Given the description of an element on the screen output the (x, y) to click on. 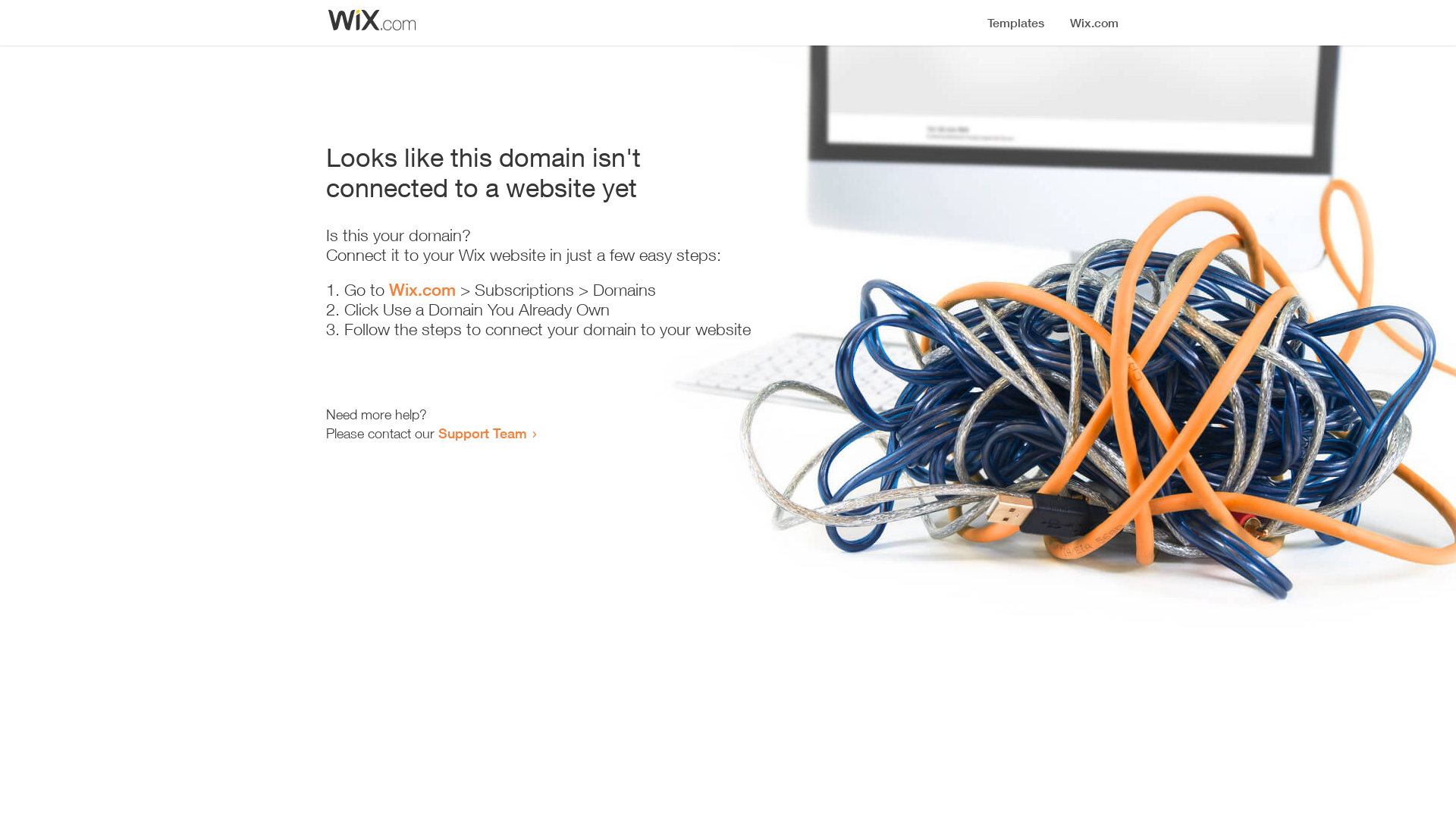
Wix.com Element type: text (422, 289)
Support Team Element type: text (482, 432)
